Given the description of an element on the screen output the (x, y) to click on. 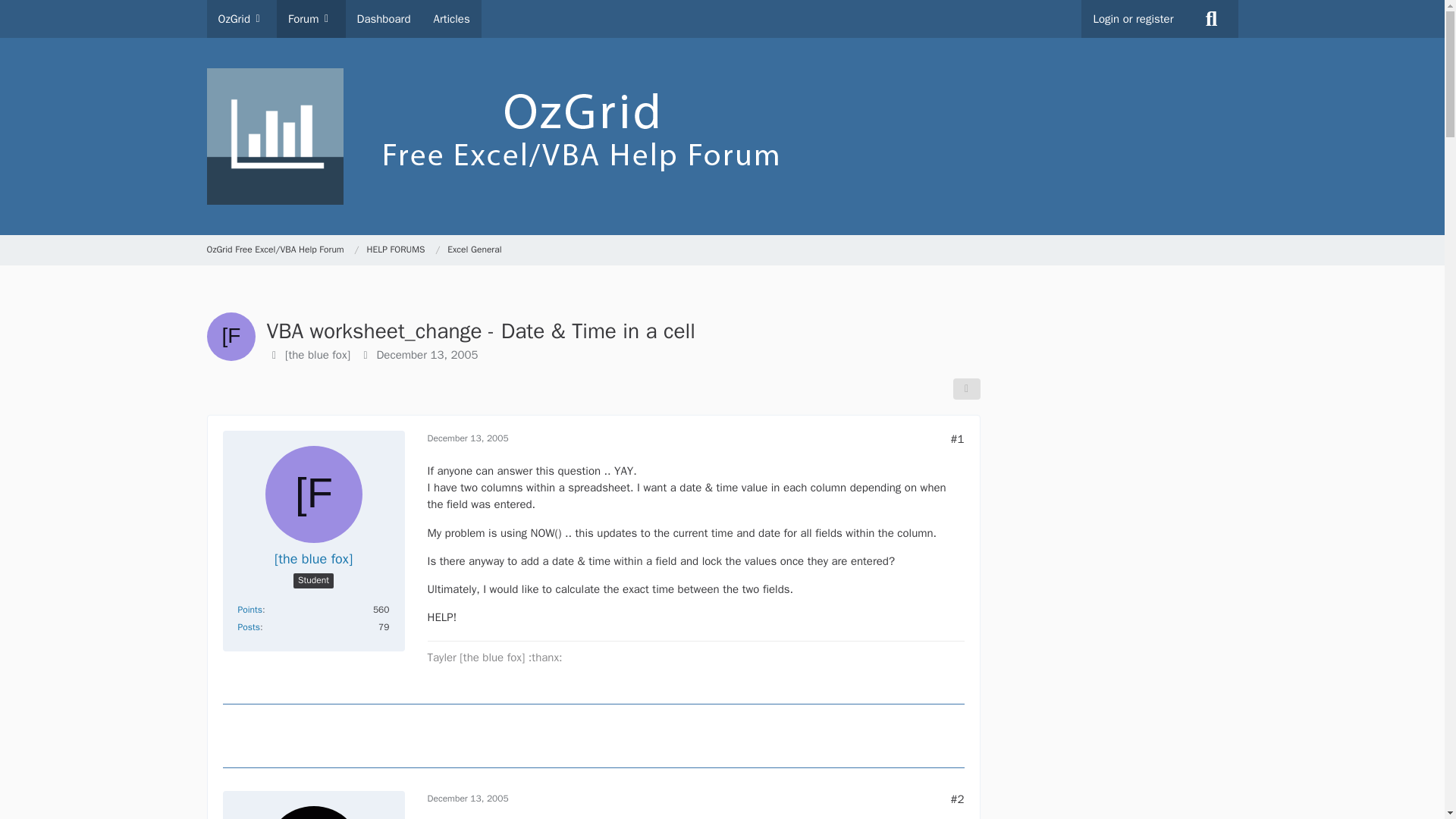
Articles (451, 18)
December 13, 2005December 13, 2005 at 11:40 PM (426, 354)
HELP FORUMS (403, 250)
Posts (249, 626)
Excel General (473, 250)
December 13, 2005December 13, 2005 at 11:40 PM (468, 438)
Login or register (1133, 18)
Points (250, 609)
December 13, 2005December 13, 2005 at 11:52 PM (468, 798)
Dashboard (384, 18)
